Given the description of an element on the screen output the (x, y) to click on. 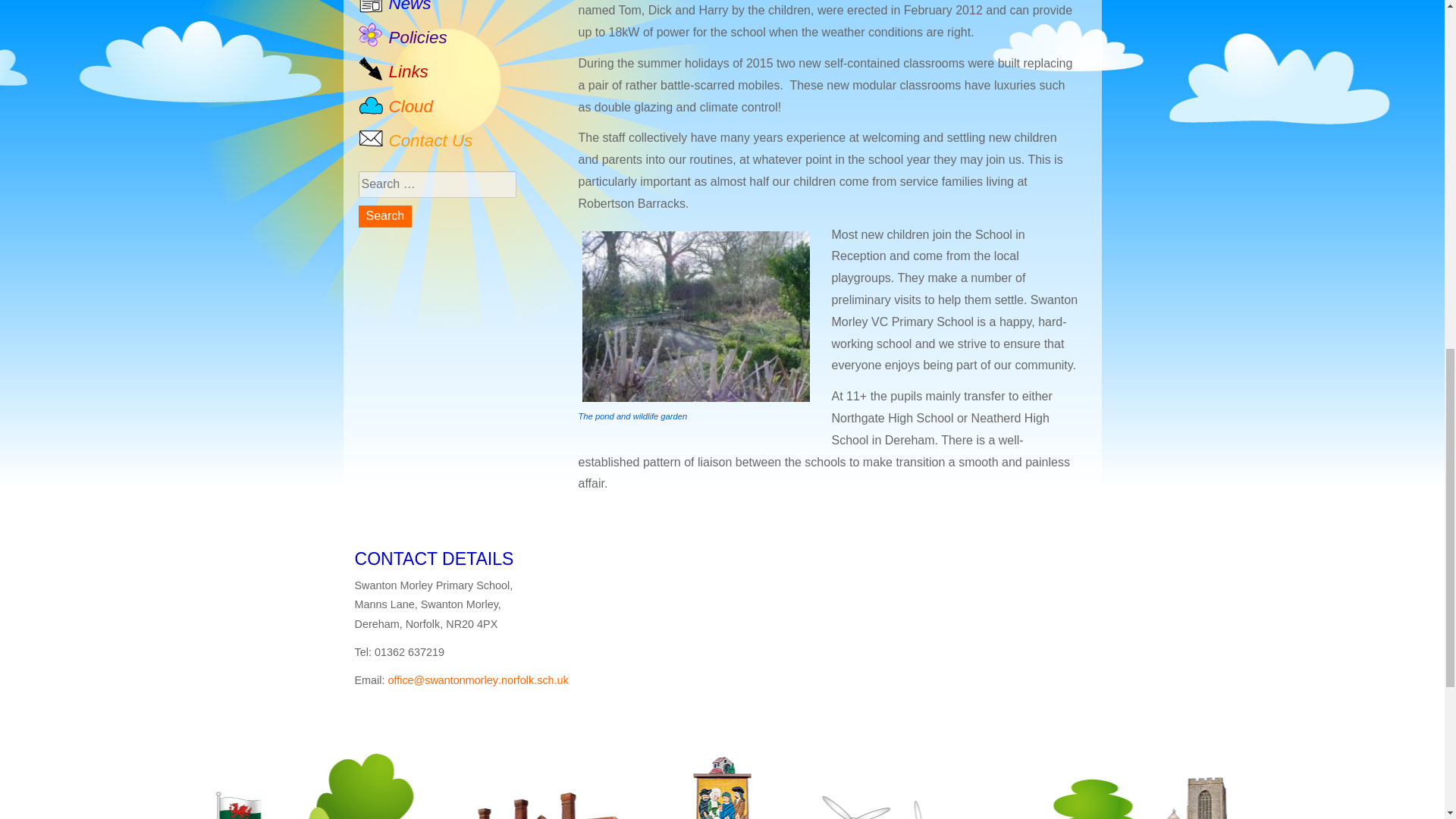
Search (385, 216)
Search (385, 216)
